Given the description of an element on the screen output the (x, y) to click on. 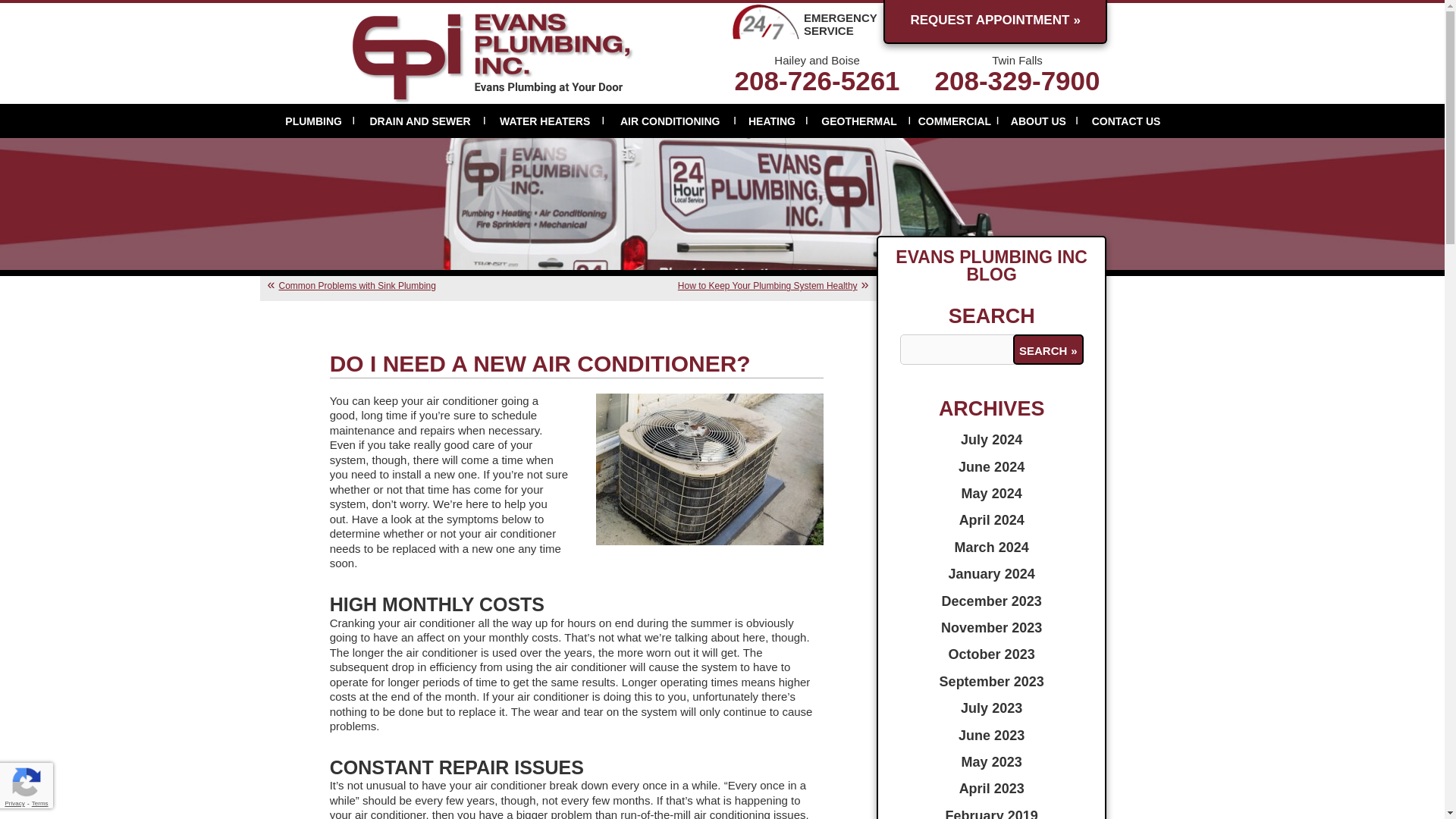
AIR CONDITIONING (670, 121)
REQUEST APPOINTMENT (995, 21)
DRAIN AND SEWER (420, 121)
PLUMBING (313, 121)
208-726-5261 (817, 80)
WATER HEATERS (544, 121)
208-329-7900 (1017, 80)
